Given the description of an element on the screen output the (x, y) to click on. 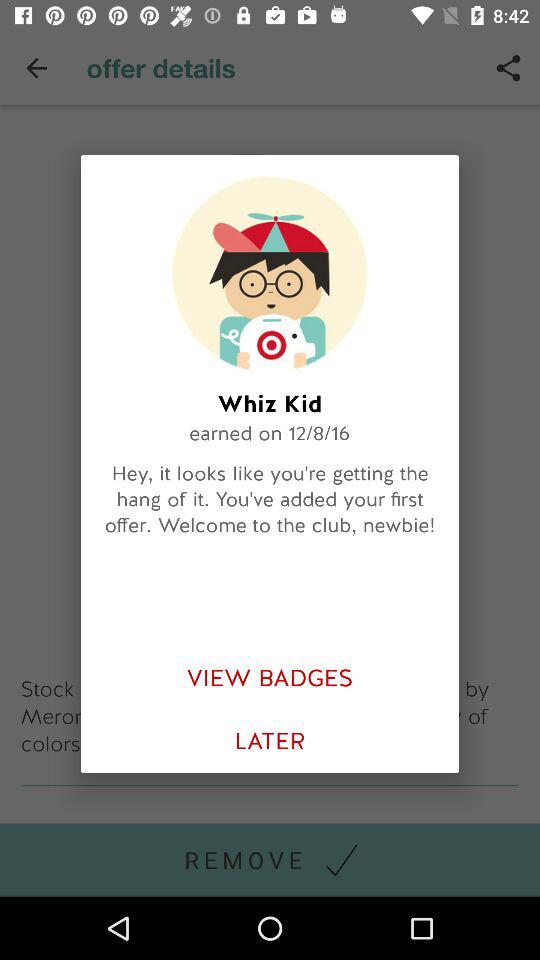
open the icon below hey it looks (270, 678)
